Given the description of an element on the screen output the (x, y) to click on. 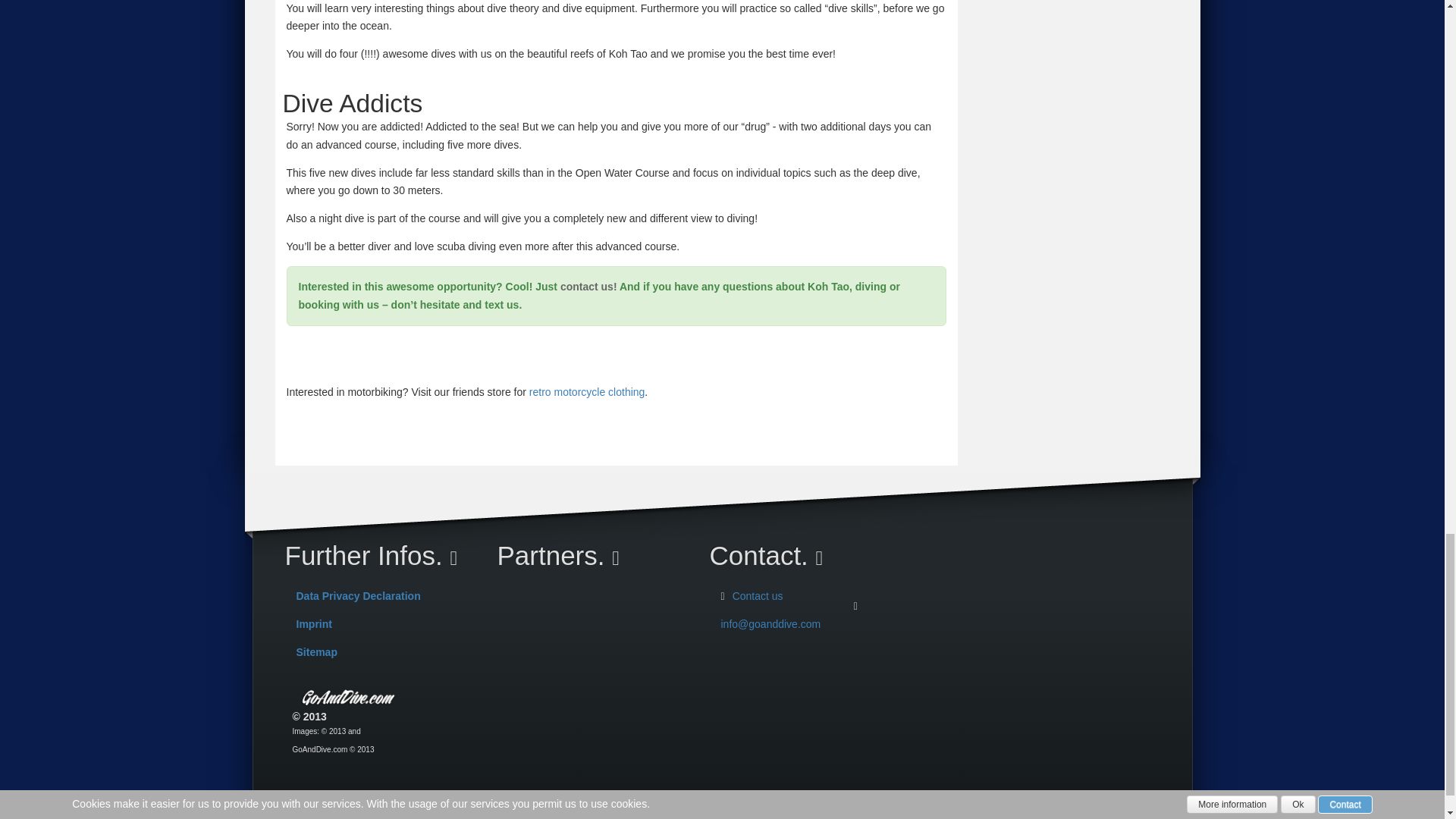
Contact us (757, 595)
Sitemap (315, 652)
retro motorcycle clothing (587, 391)
contact us! (588, 286)
Imprint (313, 623)
Contact us (757, 595)
TOP (311, 805)
Data Privacy Declaration (357, 595)
retro motorcycle clothing (587, 391)
Contact Us (588, 286)
